Given the description of an element on the screen output the (x, y) to click on. 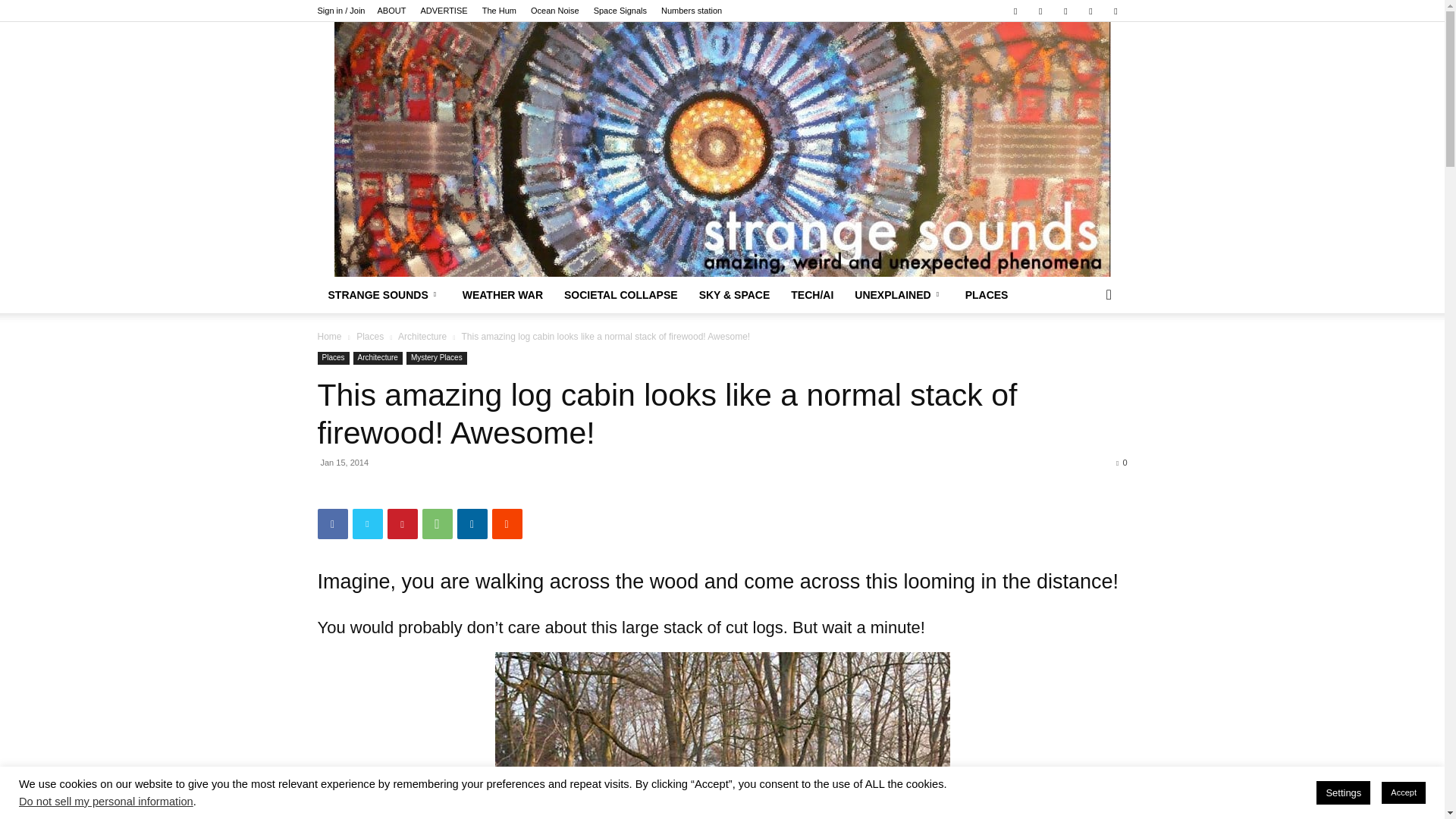
Ocean Noise (555, 10)
RSS (1065, 10)
Paypal (1040, 10)
ADVERTISE (443, 10)
ADVERTISE ON STRANGE SOUNDS (443, 10)
Facebook (1015, 10)
Youtube (1114, 10)
About Strange Sounds (391, 10)
The Hum (498, 10)
ABOUT (391, 10)
The Hum mysterious phenomenon (498, 10)
Space Signals (620, 10)
Twitter (1090, 10)
